Given the description of an element on the screen output the (x, y) to click on. 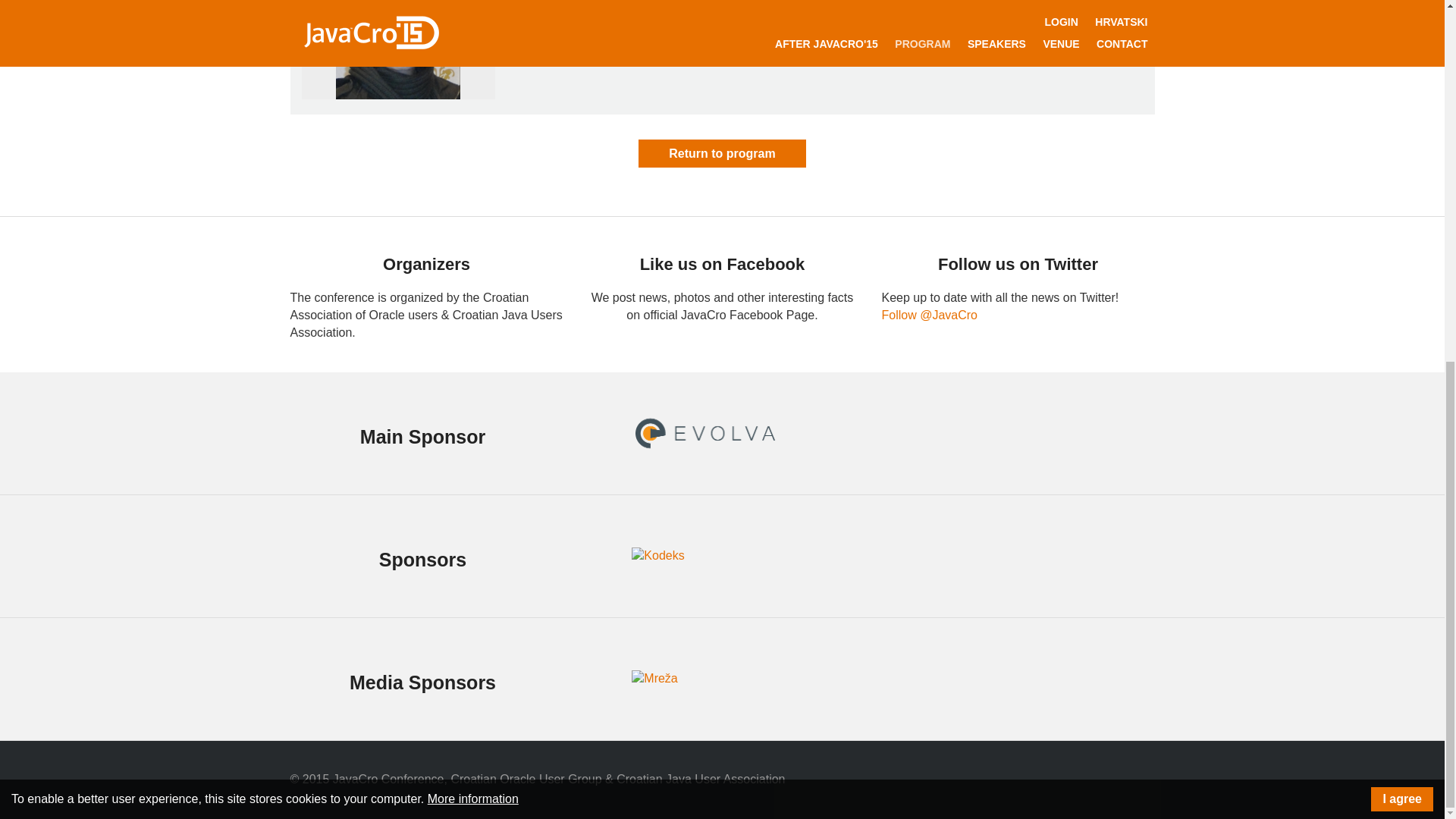
Evolva (704, 433)
More information (473, 154)
Return to program (722, 153)
I agree (1401, 154)
Kodeks (657, 556)
